Given the description of an element on the screen output the (x, y) to click on. 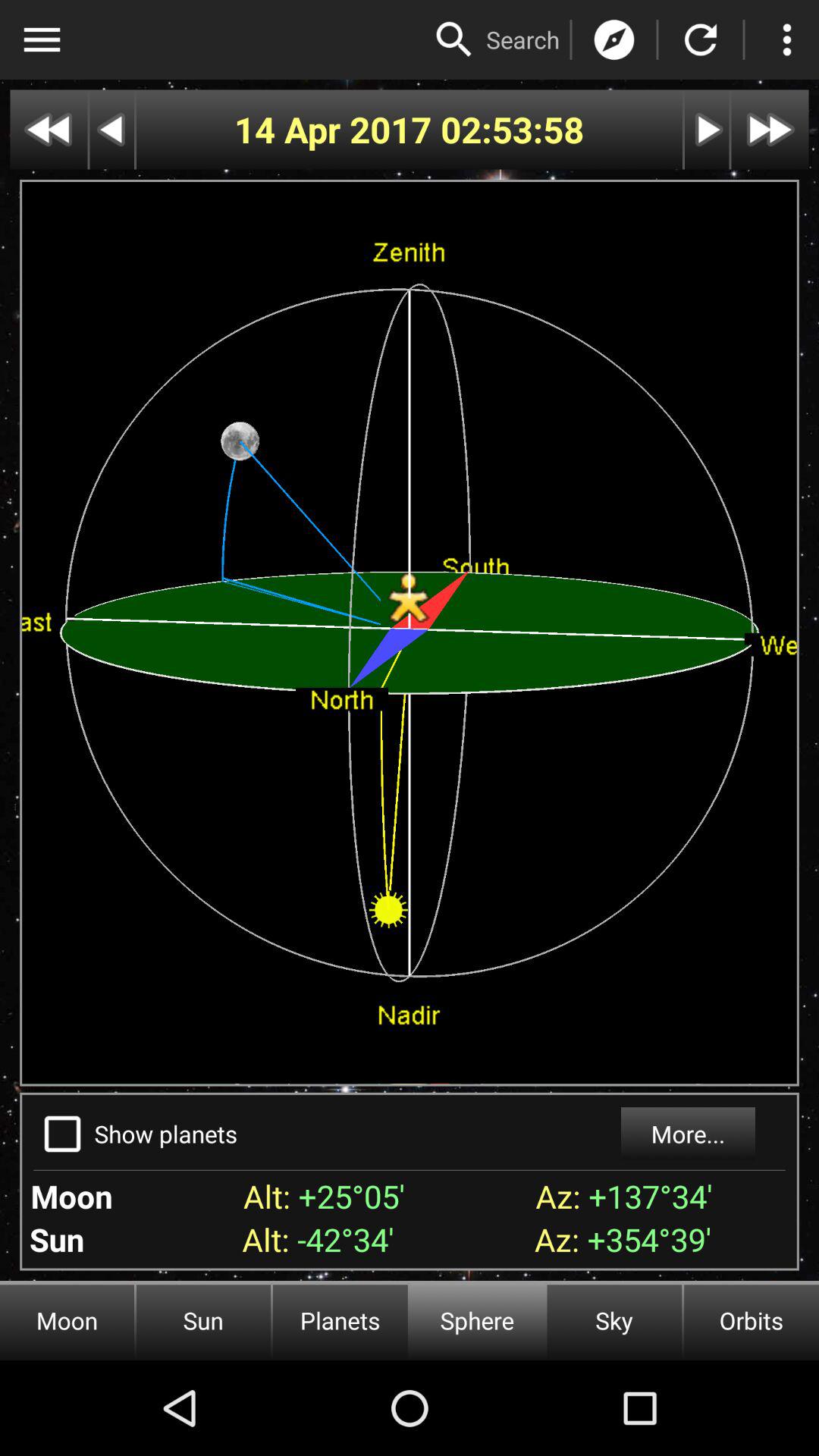
select any one (454, 39)
